Given the description of an element on the screen output the (x, y) to click on. 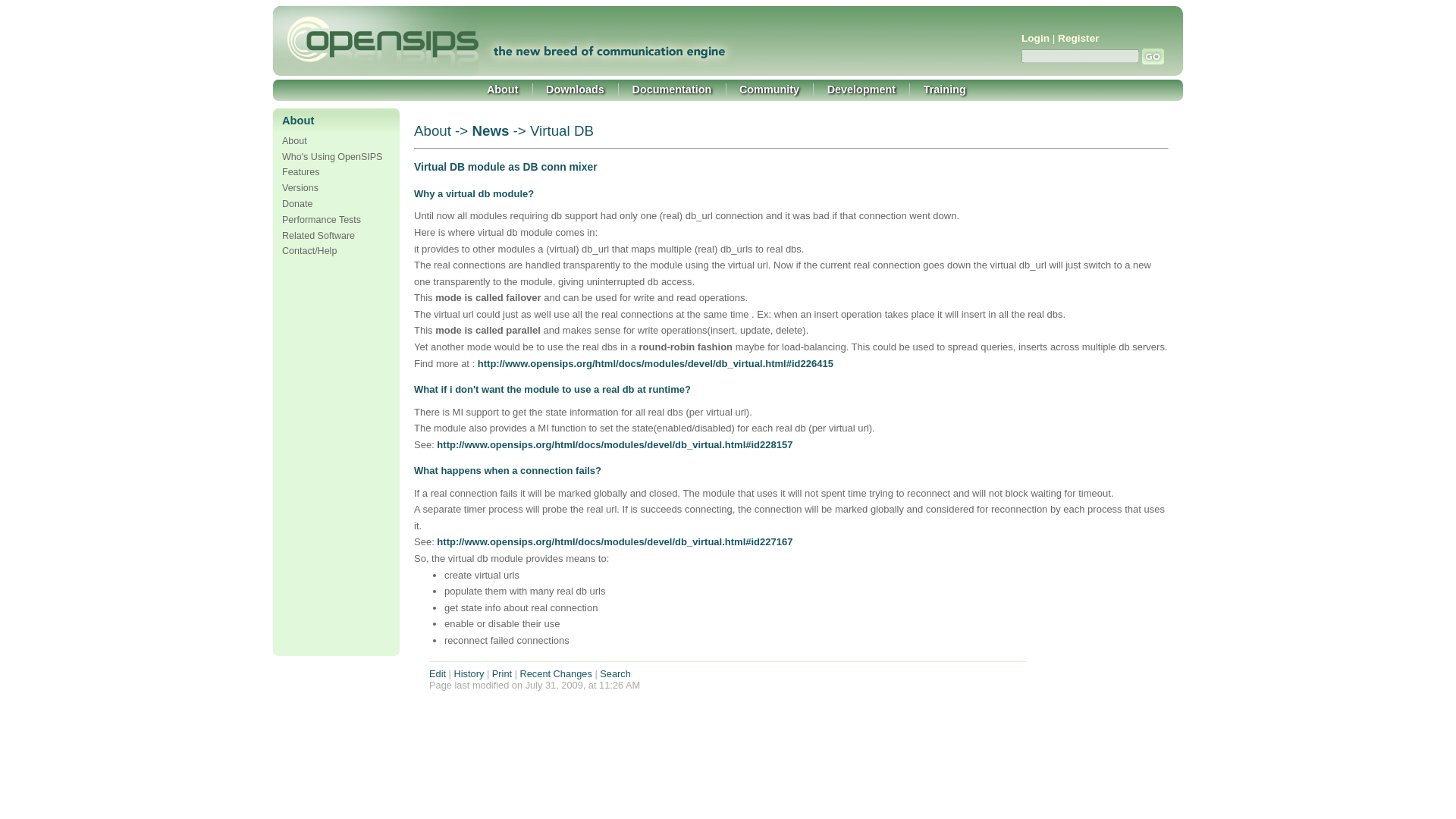
Downloads (575, 89)
Development (861, 89)
Recent Changes (555, 673)
Print (502, 673)
PerformanceTests (321, 219)
RelatedSoftware (318, 235)
Community (769, 89)
Login (1035, 38)
Training (944, 89)
Versions (300, 187)
Signup (1078, 38)
About (502, 89)
Development (861, 89)
